Given the description of an element on the screen output the (x, y) to click on. 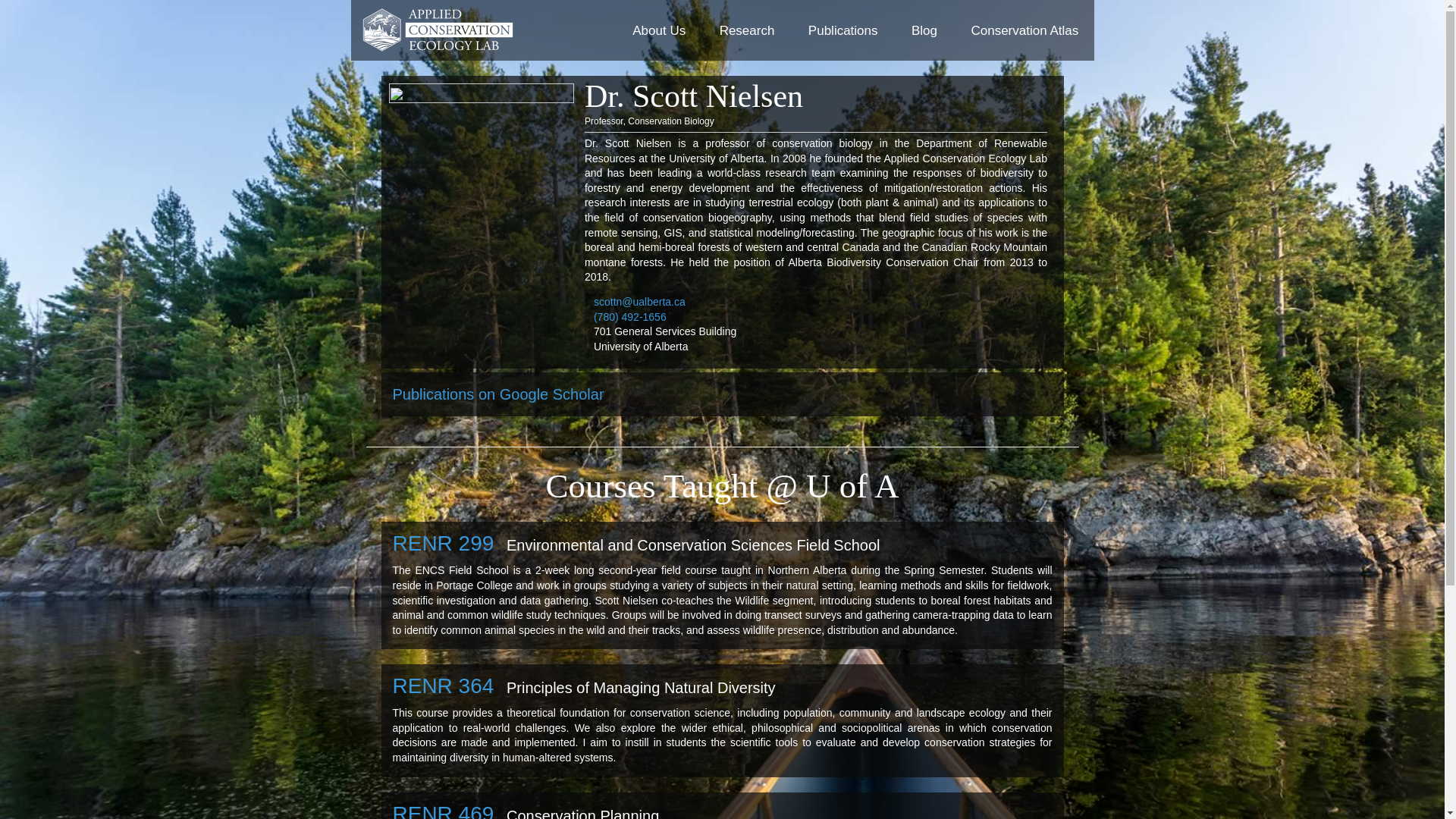
RENR 299 Element type: text (443, 543)
RENR 364 Element type: text (443, 685)
Publications on Google Scholar Element type: text (498, 397)
scottn@ualberta.ca Element type: text (639, 301)
About Us Element type: text (658, 30)
Conservation Atlas Element type: text (1024, 30)
Publications Element type: text (843, 30)
Blog Element type: text (924, 30)
(780) 492-1656 Element type: text (629, 316)
Research Element type: text (747, 30)
